Given the description of an element on the screen output the (x, y) to click on. 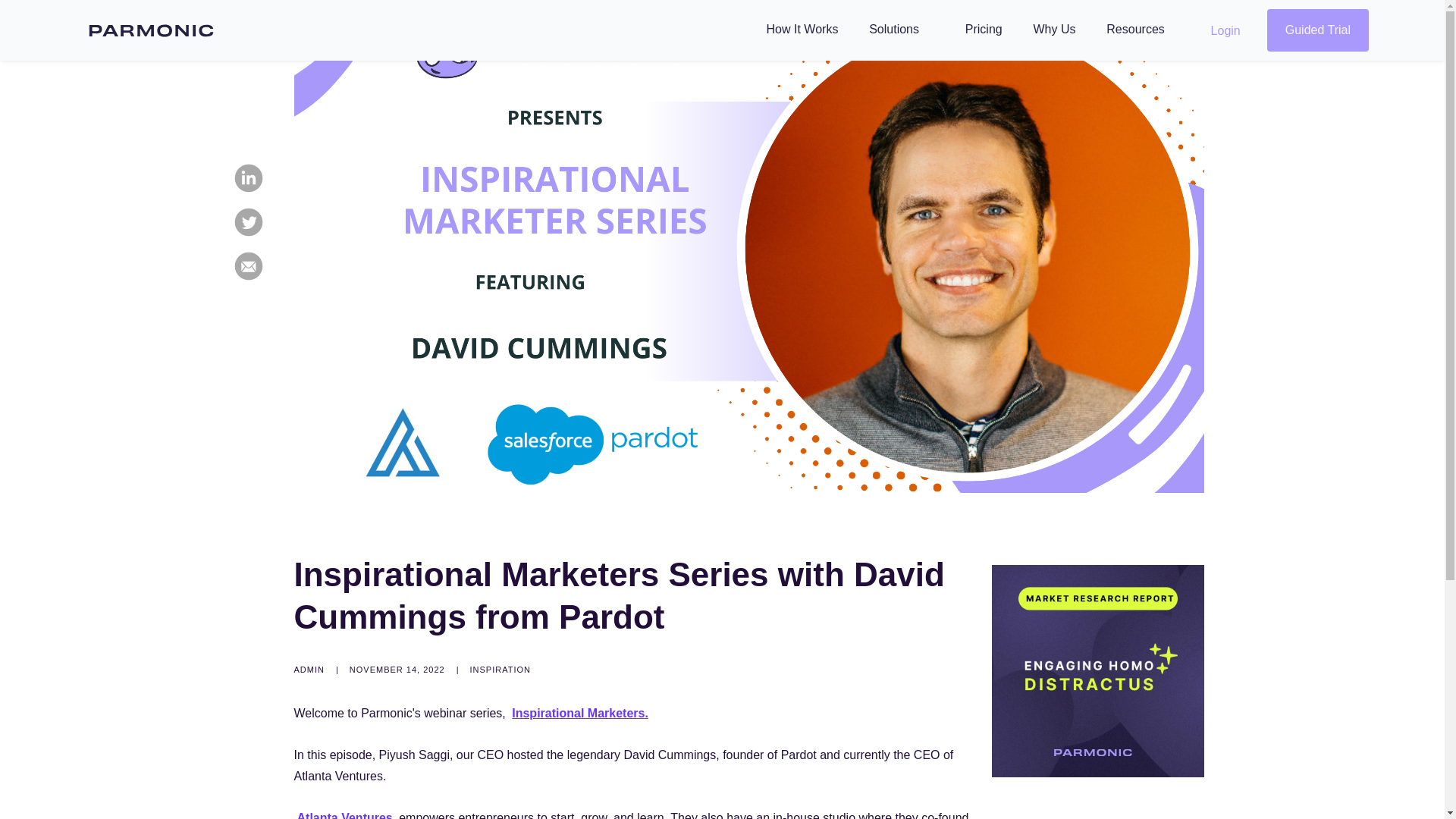
Resources (1141, 29)
Inspirational Marketers. (579, 712)
Email (247, 265)
Solutions (901, 29)
Pricing (983, 29)
Tweet (247, 221)
Why Us (1053, 29)
How It Works (802, 29)
Atlanta Ventures (345, 815)
Share on LinkedIn (247, 177)
